Given the description of an element on the screen output the (x, y) to click on. 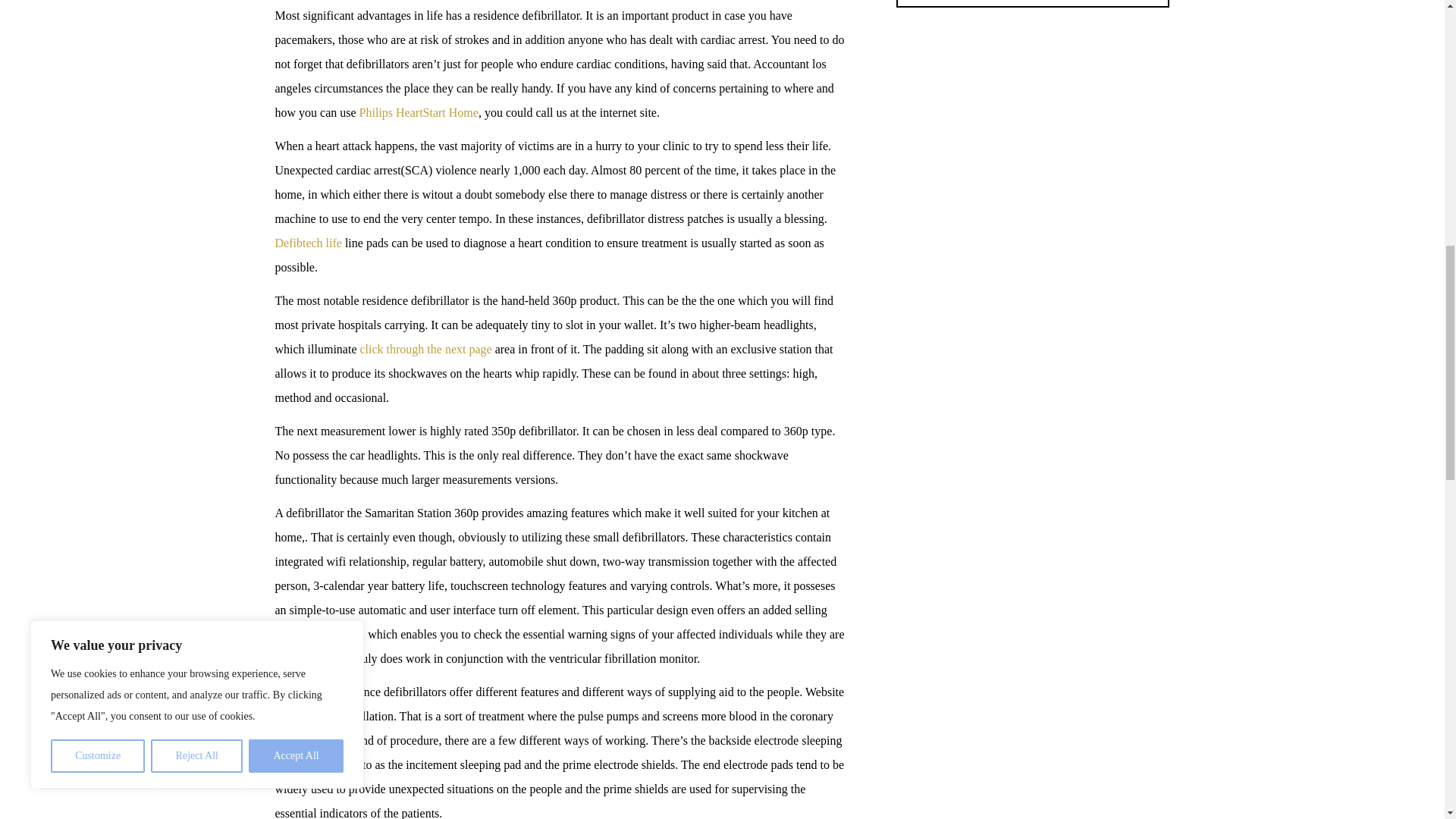
Philips HeartStart Home (419, 112)
Defibtech life (307, 242)
click through the next page (425, 349)
